Given the description of an element on the screen output the (x, y) to click on. 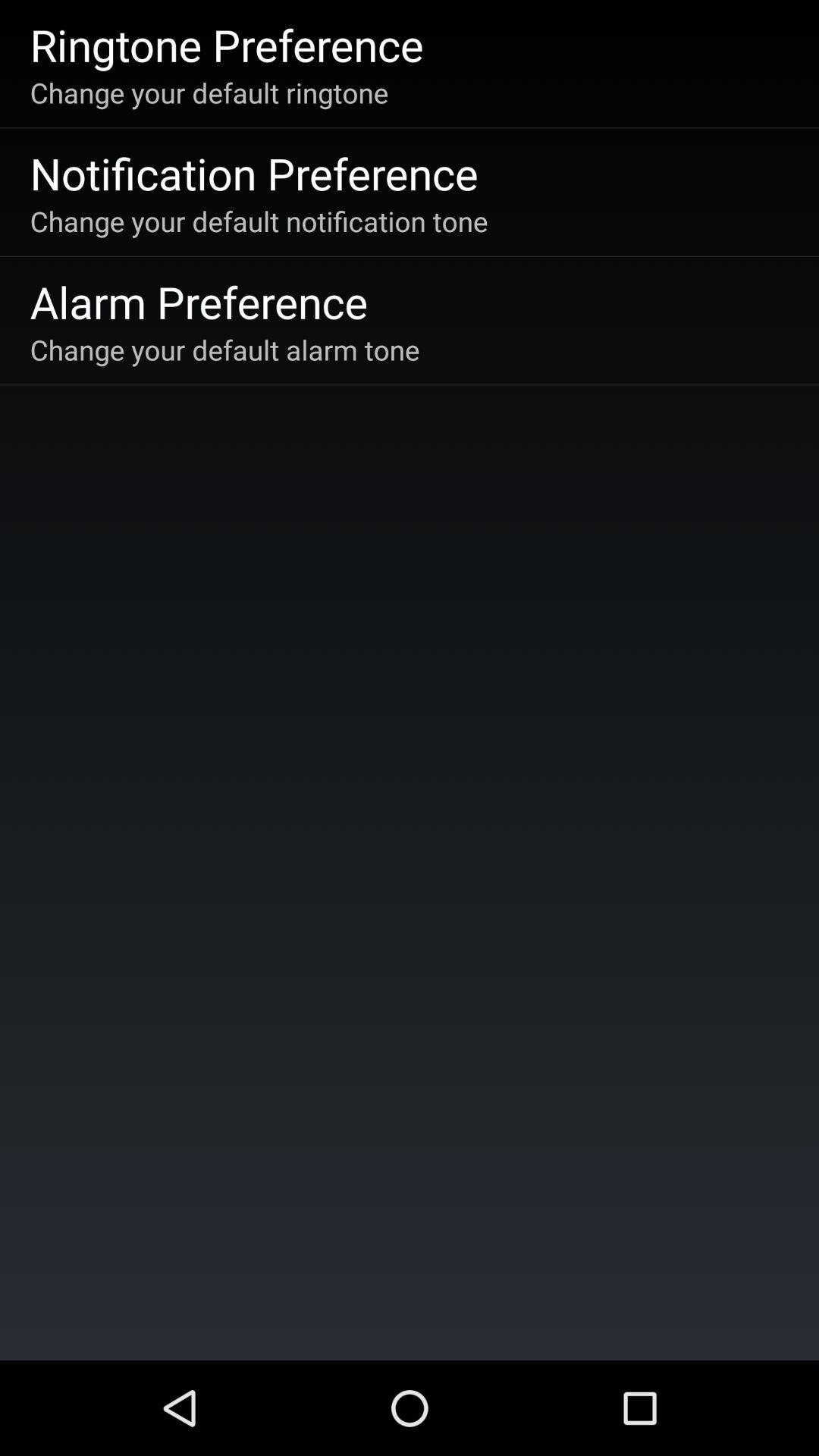
turn on the ringtone preference item (226, 44)
